Given the description of an element on the screen output the (x, y) to click on. 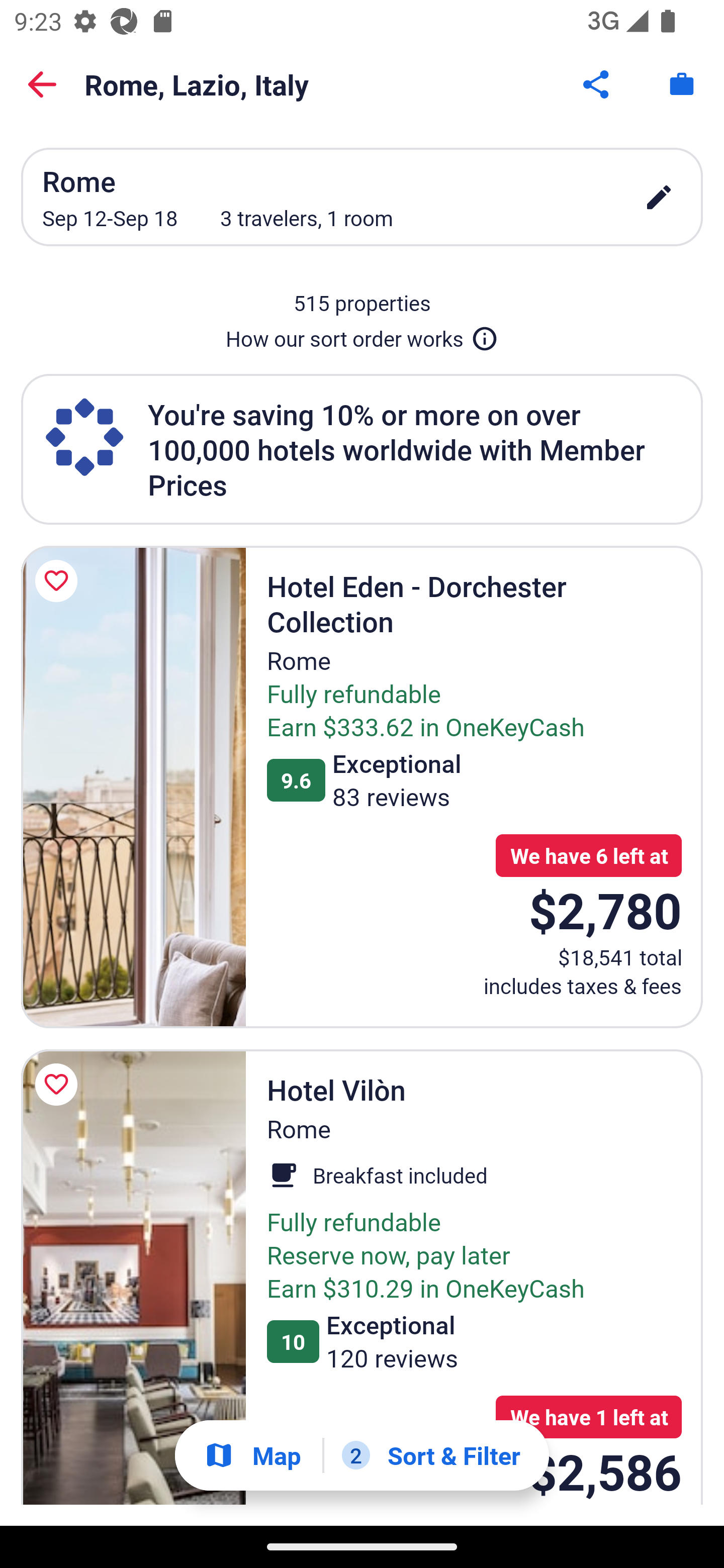
Back (42, 84)
Share Button (597, 84)
Trips. Button (681, 84)
Rome Sep 12-Sep 18 3 travelers, 1 room edit (361, 196)
How our sort order works (361, 334)
Save Hotel Eden - Dorchester Collection to a trip (59, 580)
Hotel Eden - Dorchester Collection (133, 786)
Save Hotel Vilòn to a trip (59, 1084)
Hotel Vilòn (133, 1276)
2 Sort & Filter 2 Filters applied. Filters Button (430, 1455)
Show map Map Show map Button (252, 1455)
